Given the description of an element on the screen output the (x, y) to click on. 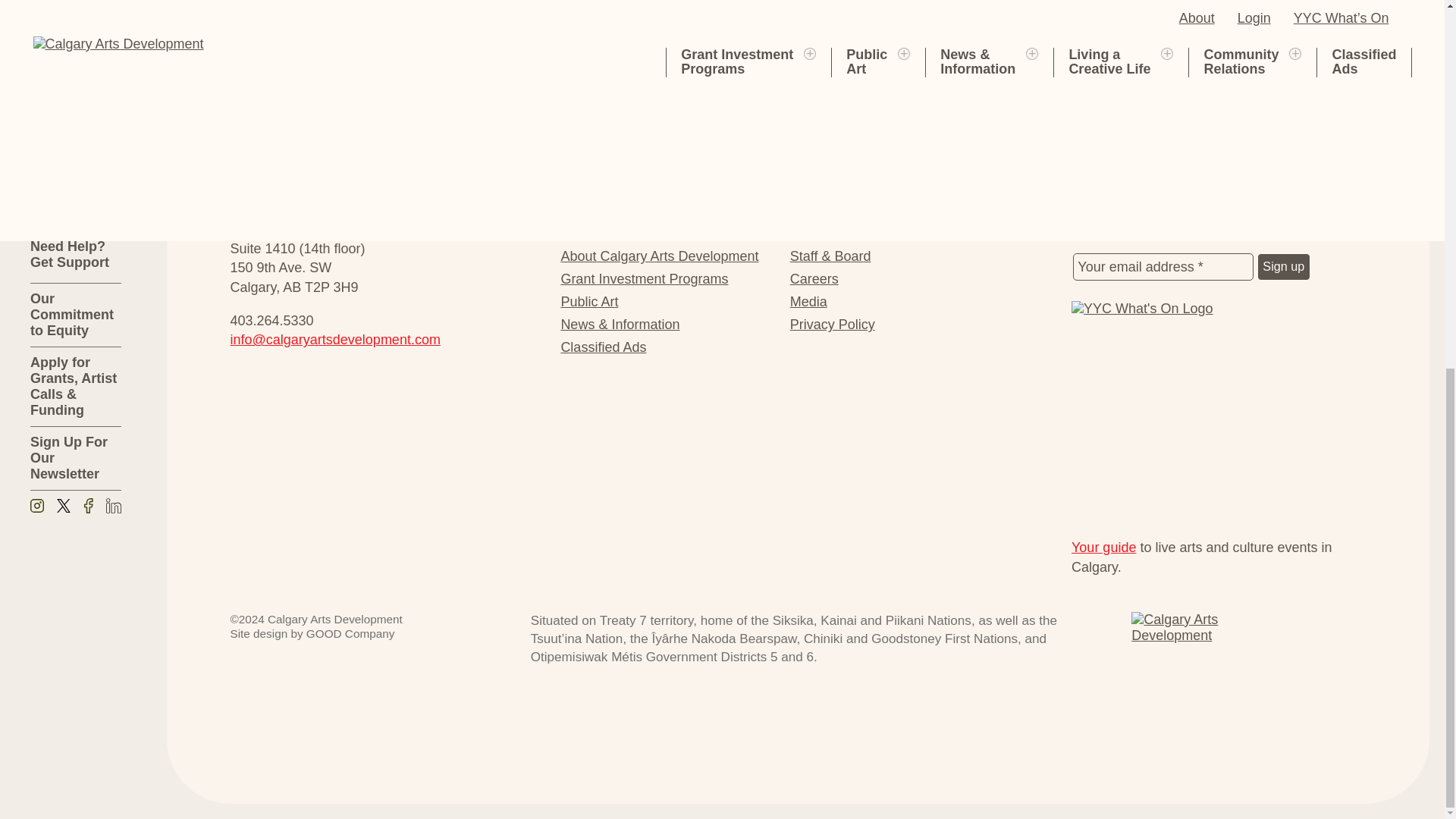
YYC What's On (1219, 414)
